Given the description of an element on the screen output the (x, y) to click on. 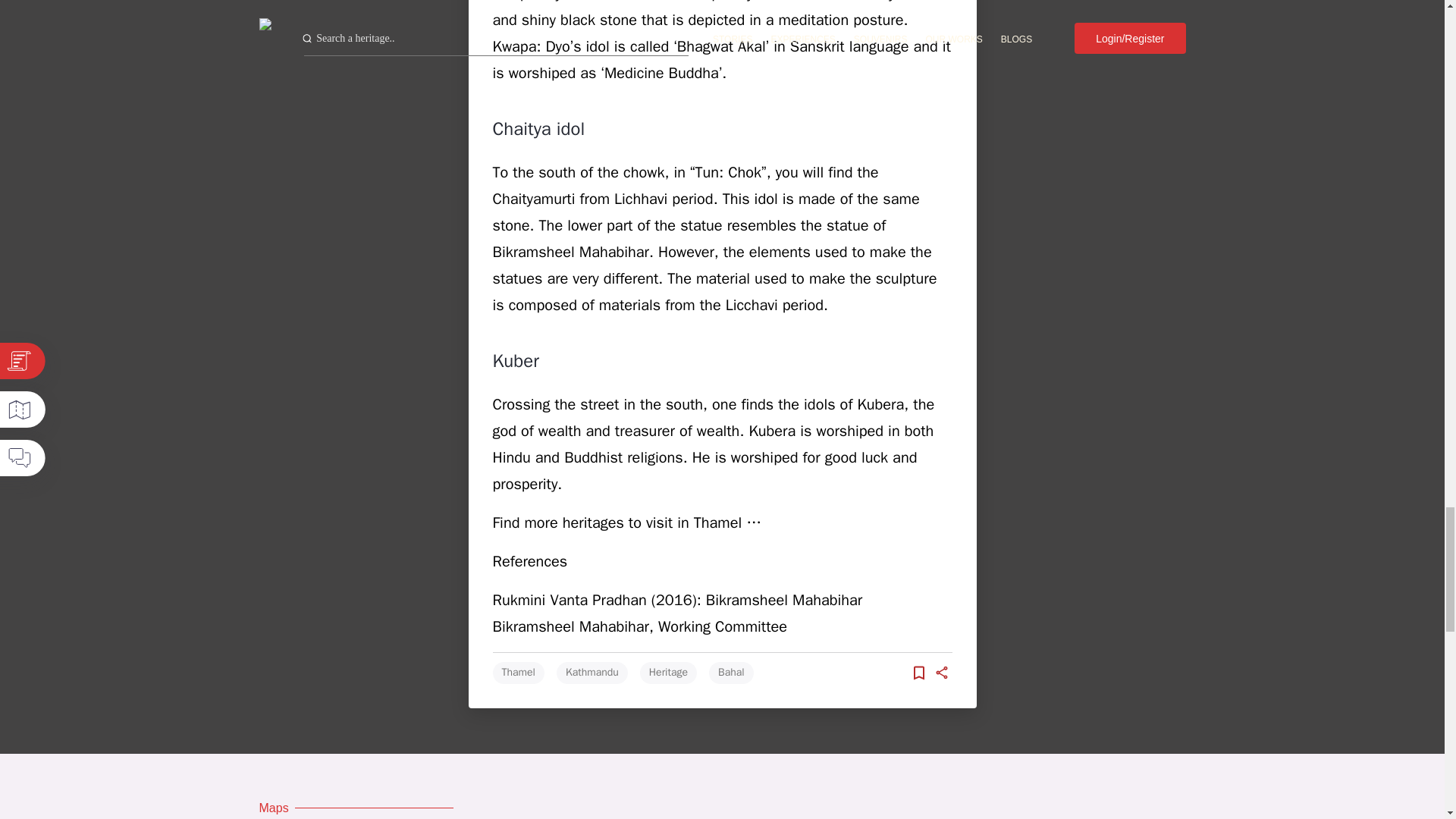
Kathmandu (591, 672)
Bahal (731, 672)
Heritage (668, 672)
Thamel (518, 672)
